Given the description of an element on the screen output the (x, y) to click on. 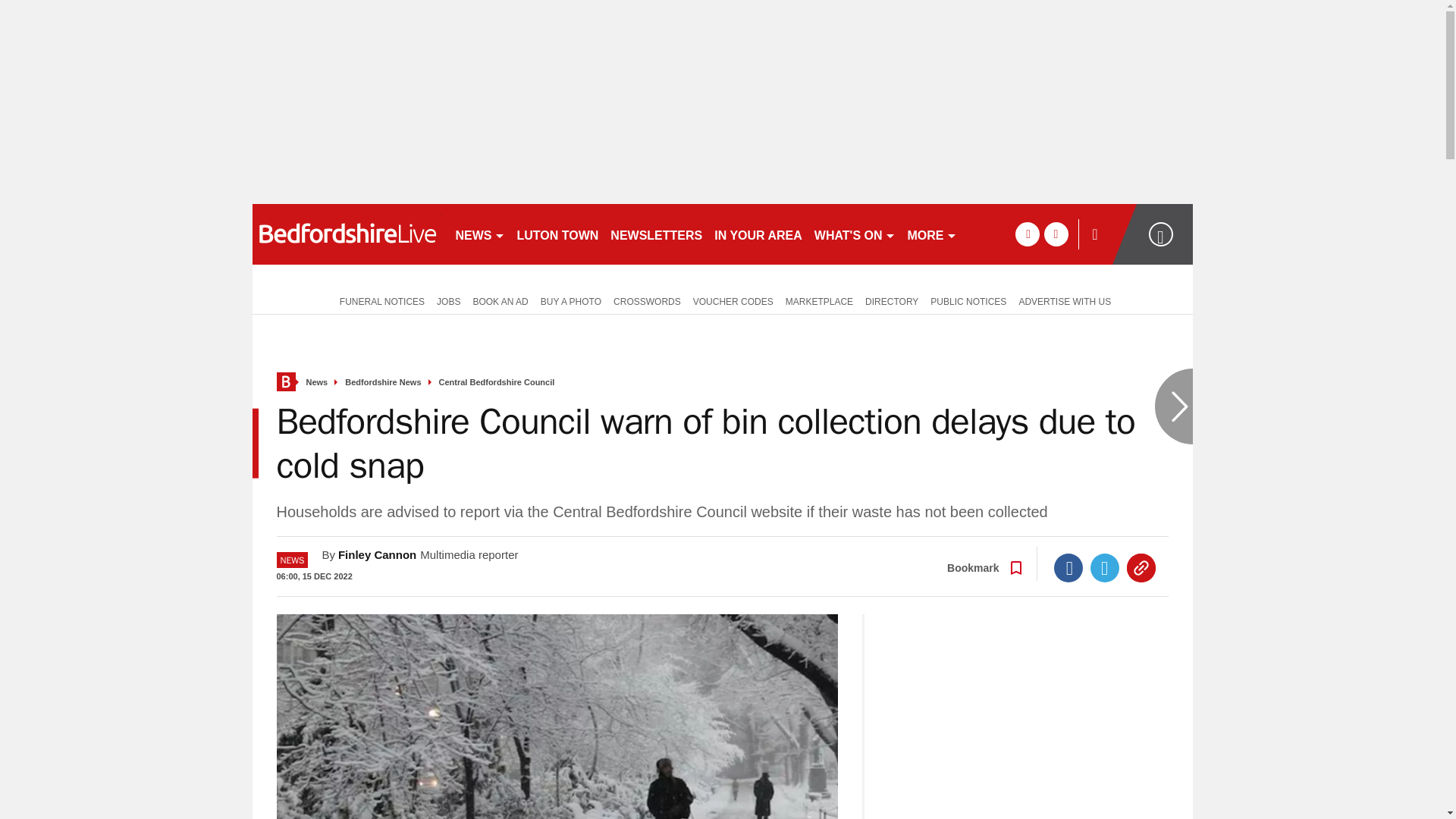
MARKETPLACE (818, 300)
WHAT'S ON (854, 233)
VOUCHER CODES (732, 300)
MORE (931, 233)
Home (285, 381)
DIRECTORY (891, 300)
NEWSLETTERS (655, 233)
Bedfordshire News (382, 382)
twitter (1055, 233)
NEWS (479, 233)
